Given the description of an element on the screen output the (x, y) to click on. 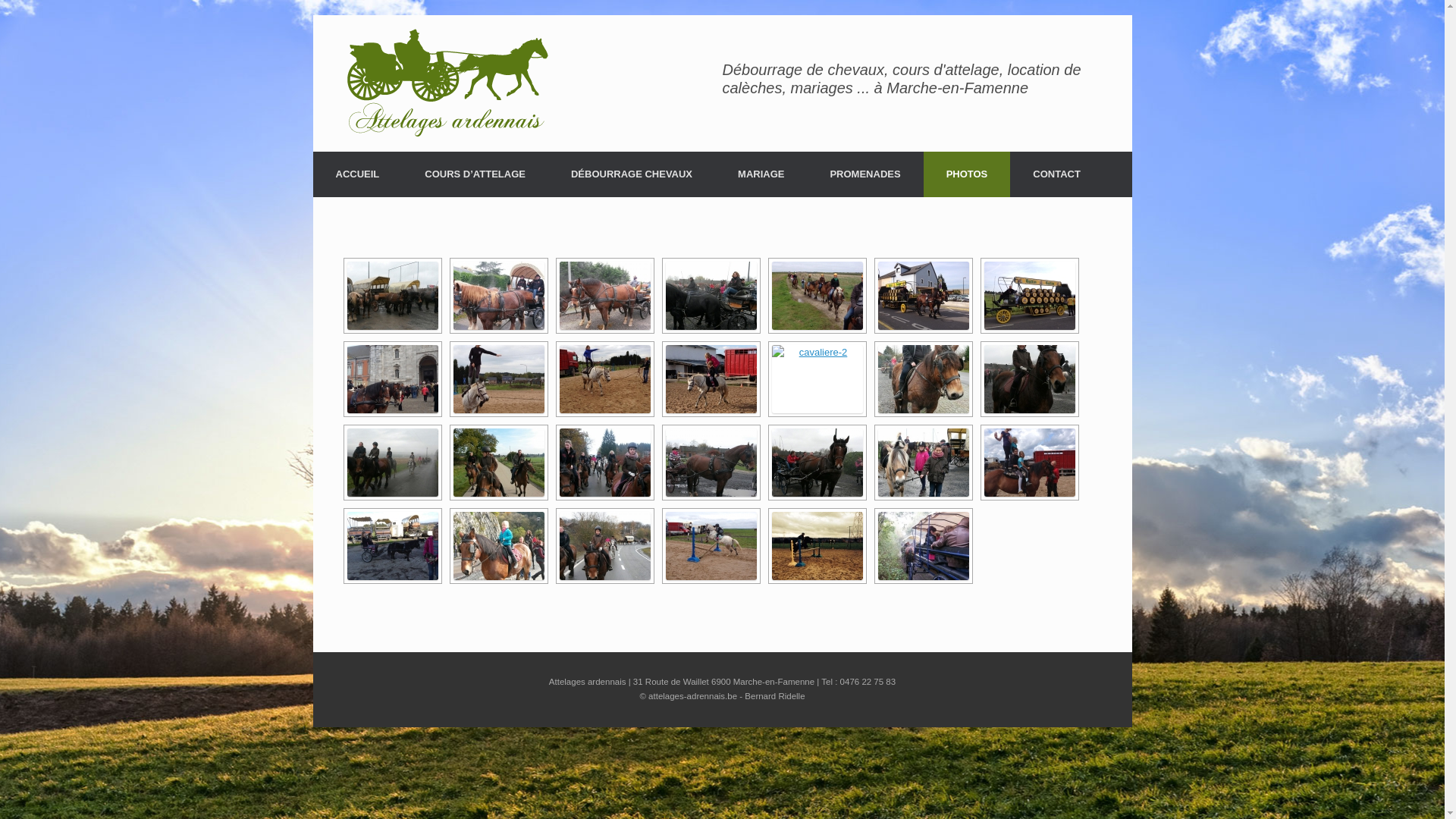
cabriole-2 Element type: hover (498, 378)
cheval-attelage Element type: hover (816, 461)
PHOTOS Element type: text (966, 174)
cavaliere Element type: hover (1029, 378)
cavaliere-2 Element type: hover (816, 378)
attelages Element type: hover (710, 294)
ACCUEIL Element type: text (356, 174)
battin-2 Element type: hover (923, 294)
ballade Element type: hover (816, 294)
attelages-char-a-bancs Element type: hover (498, 294)
cabriole Element type: hover (710, 378)
battin Element type: hover (1029, 294)
PROMENADES Element type: text (864, 174)
enfant-poney Element type: hover (923, 461)
promenades-groupees Element type: hover (604, 545)
cheval-attelage-2 Element type: hover (710, 461)
attelages-enfants Element type: hover (604, 294)
cavaliers Element type: hover (604, 461)
Attelages Ardennais Element type: hover (446, 83)
CONTACT Element type: text (1056, 174)
mini-attelage Element type: hover (392, 545)
attelages-char-a-bancs-2 Element type: hover (392, 294)
saut-obstacle Element type: hover (816, 545)
benediction-St-Hubert Element type: hover (392, 378)
cavaliers-3 Element type: hover (498, 461)
cavaliers-2 Element type: hover (392, 461)
mini-cavaliere Element type: hover (498, 545)
cabriole-3 Element type: hover (604, 378)
enfants-bernard-cabriole Element type: hover (1029, 461)
vue-char-a-bancs Element type: hover (923, 545)
MARIAGE Element type: text (760, 174)
saut-junior Element type: hover (710, 545)
cavaliere-cheval-de-trait Element type: hover (923, 378)
